Given the description of an element on the screen output the (x, y) to click on. 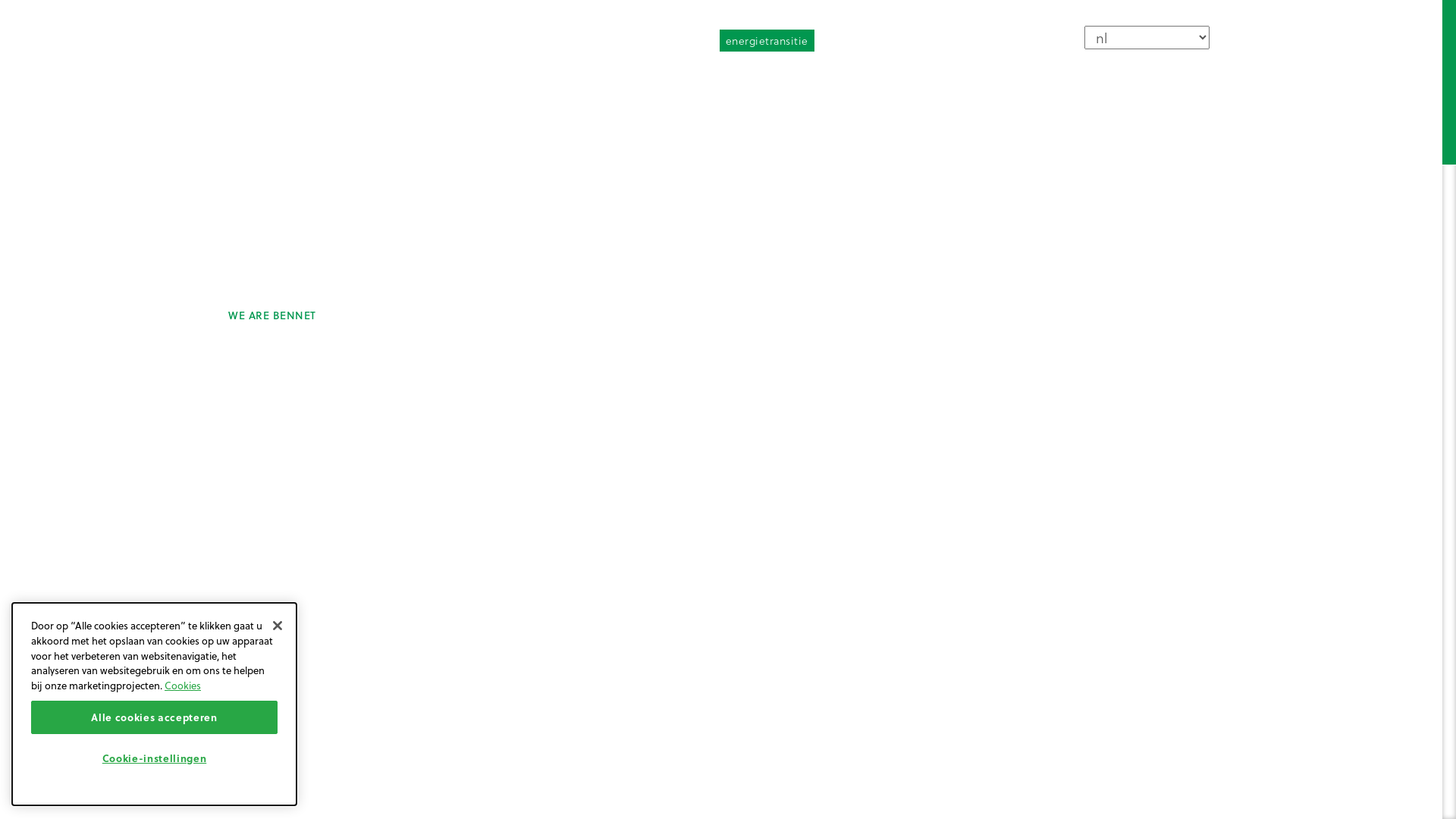
Overslaan en naar de inhoud gaan Element type: text (0, 0)
referenties Element type: text (1108, 78)
over bennet Element type: text (854, 38)
disciplines Element type: text (996, 78)
contact Element type: text (1058, 38)
aanpak Element type: text (895, 78)
jobs Element type: text (1189, 78)
Cookie-instellingen Element type: text (154, 758)
energietransitie Element type: text (765, 40)
Cookies Element type: text (182, 684)
beschikbare consultants Element type: text (962, 38)
Alle cookies accepteren Element type: text (154, 717)
